Given the description of an element on the screen output the (x, y) to click on. 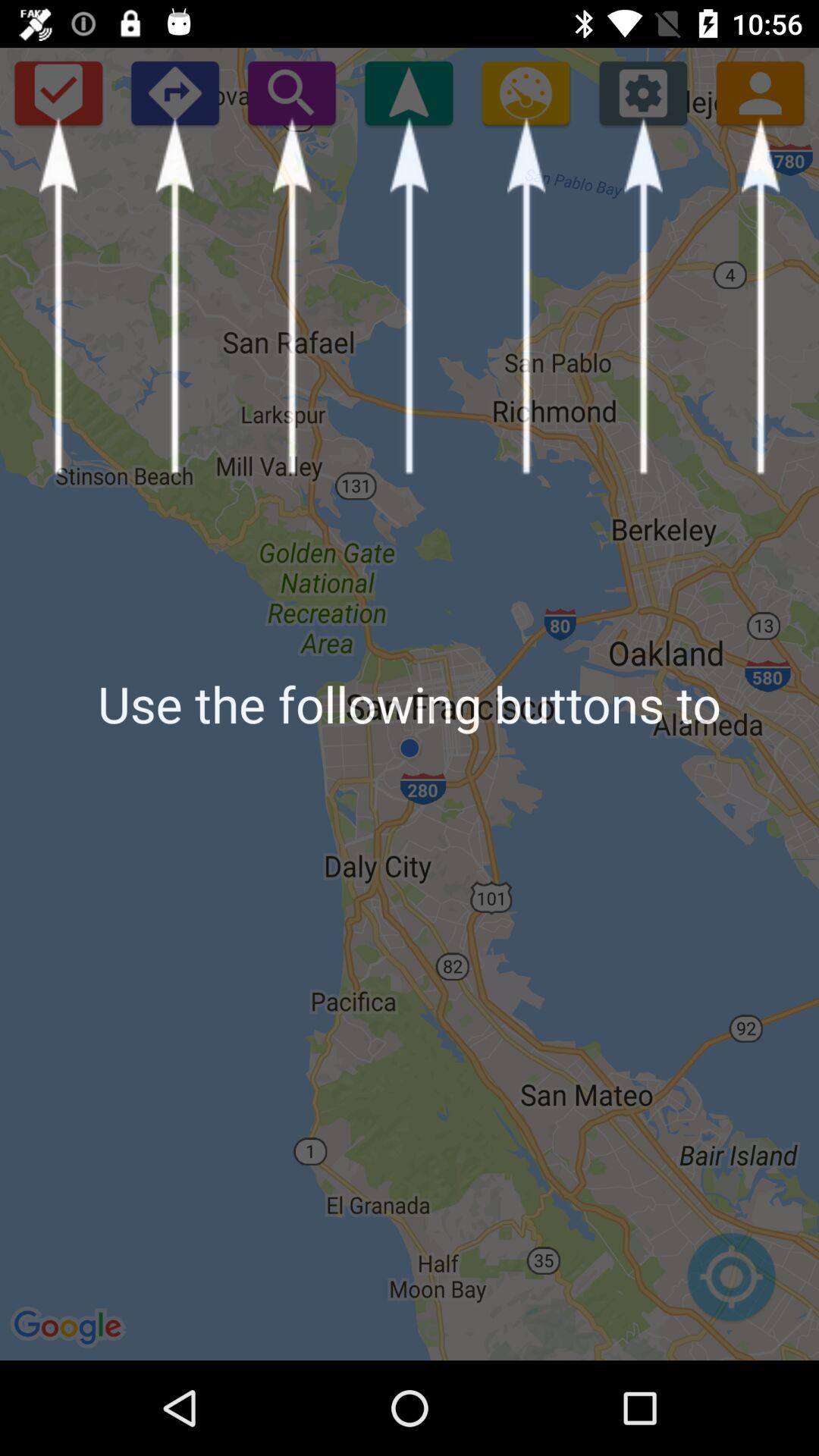
current location (731, 1284)
